Given the description of an element on the screen output the (x, y) to click on. 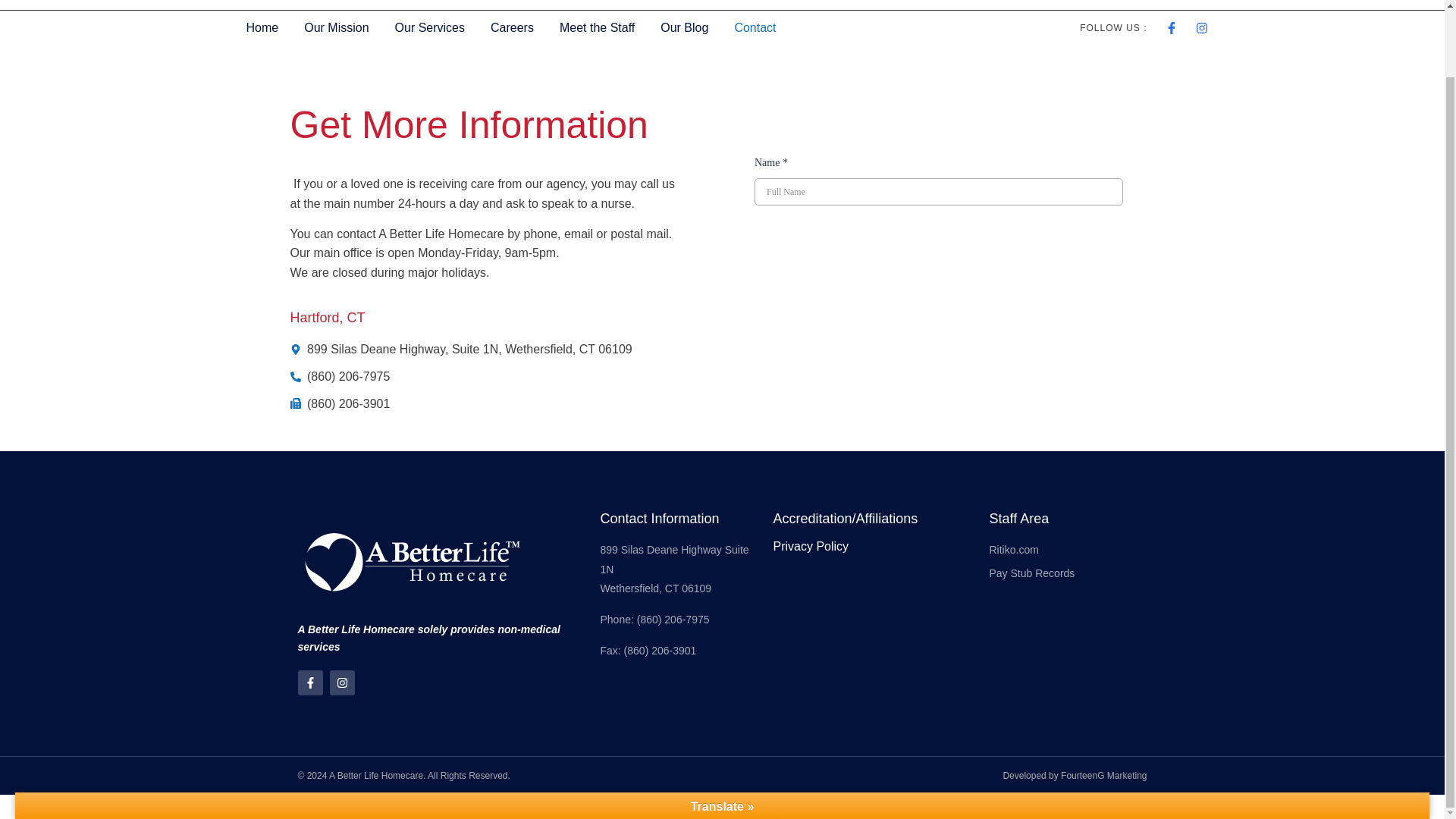
Careers (512, 27)
Ritiko.com (1067, 550)
Contact Us Form (938, 163)
FourteenG Marketing (1104, 775)
Pay Stub Records (1067, 573)
Our Services (429, 27)
Meet the Staff (597, 27)
Home (262, 27)
Our Mission (336, 27)
Our Blog (683, 27)
Privacy Policy (810, 545)
A Better Life Homecare Logo (333, 4)
Contact (754, 27)
